Given the description of an element on the screen output the (x, y) to click on. 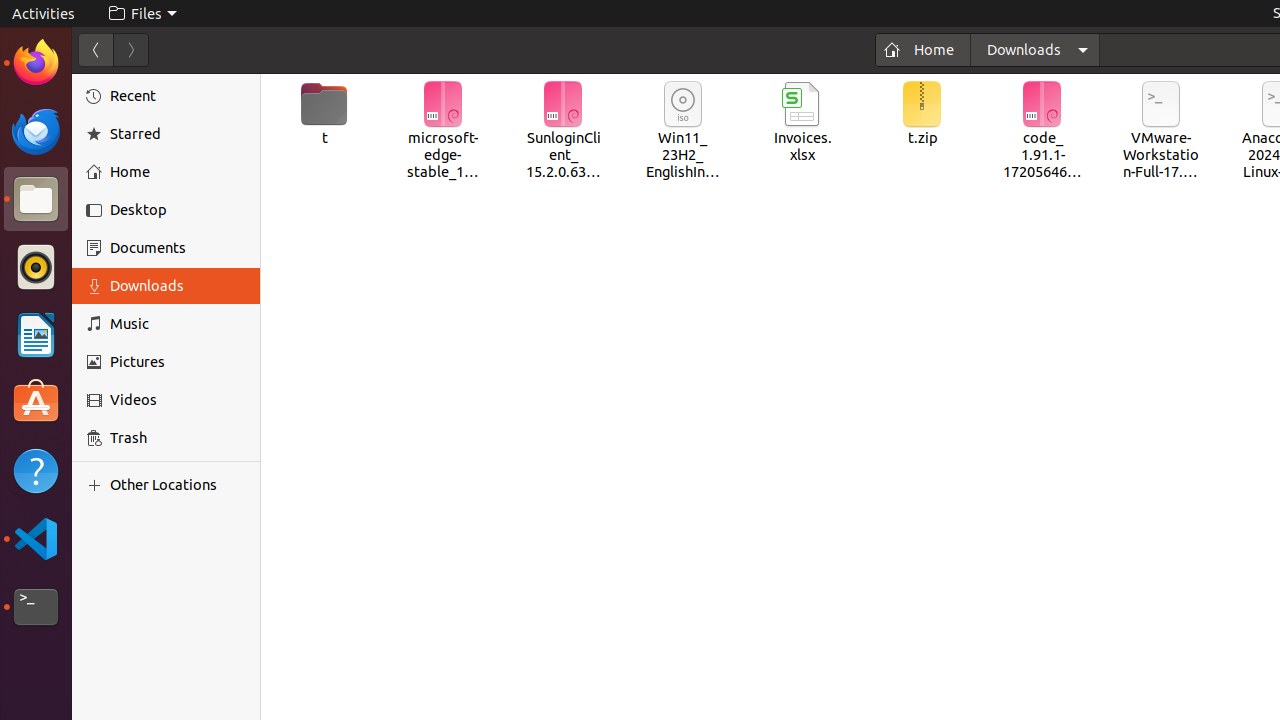
Win11_23H2_EnglishInternational_x64v2.iso Element type: canvas (683, 131)
Home Element type: push-button (923, 50)
Terminal Element type: push-button (36, 607)
